Given the description of an element on the screen output the (x, y) to click on. 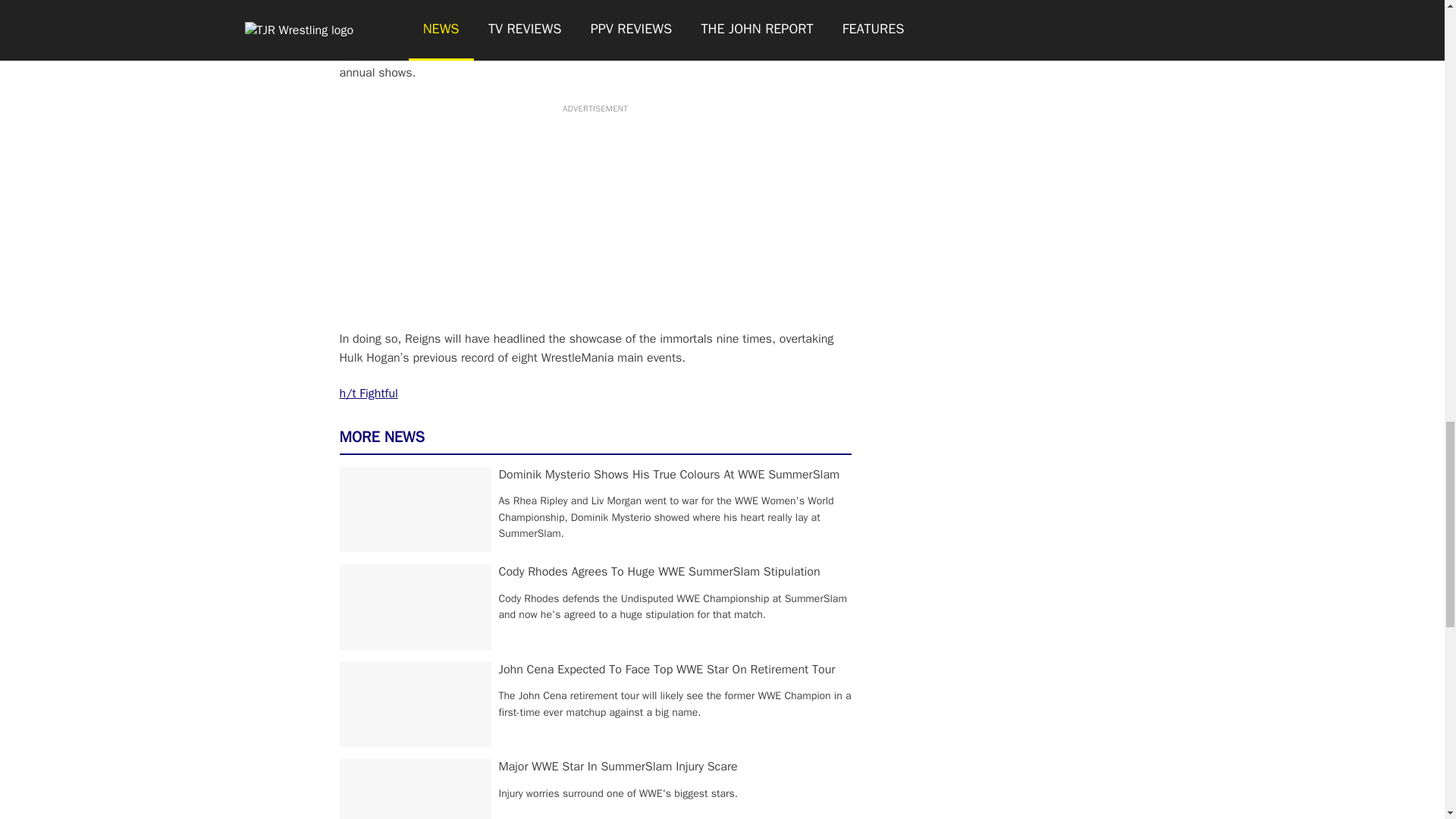
Major WWE Star In SummerSlam Injury Scare (618, 766)
Dominik Mysterio Shows His True Colours At WWE SummerSlam (669, 474)
John Cena Expected To Face Top WWE Star On Retirement Tour (667, 669)
Cody Rhodes Agrees To Huge WWE SummerSlam Stipulation (660, 571)
